Given the description of an element on the screen output the (x, y) to click on. 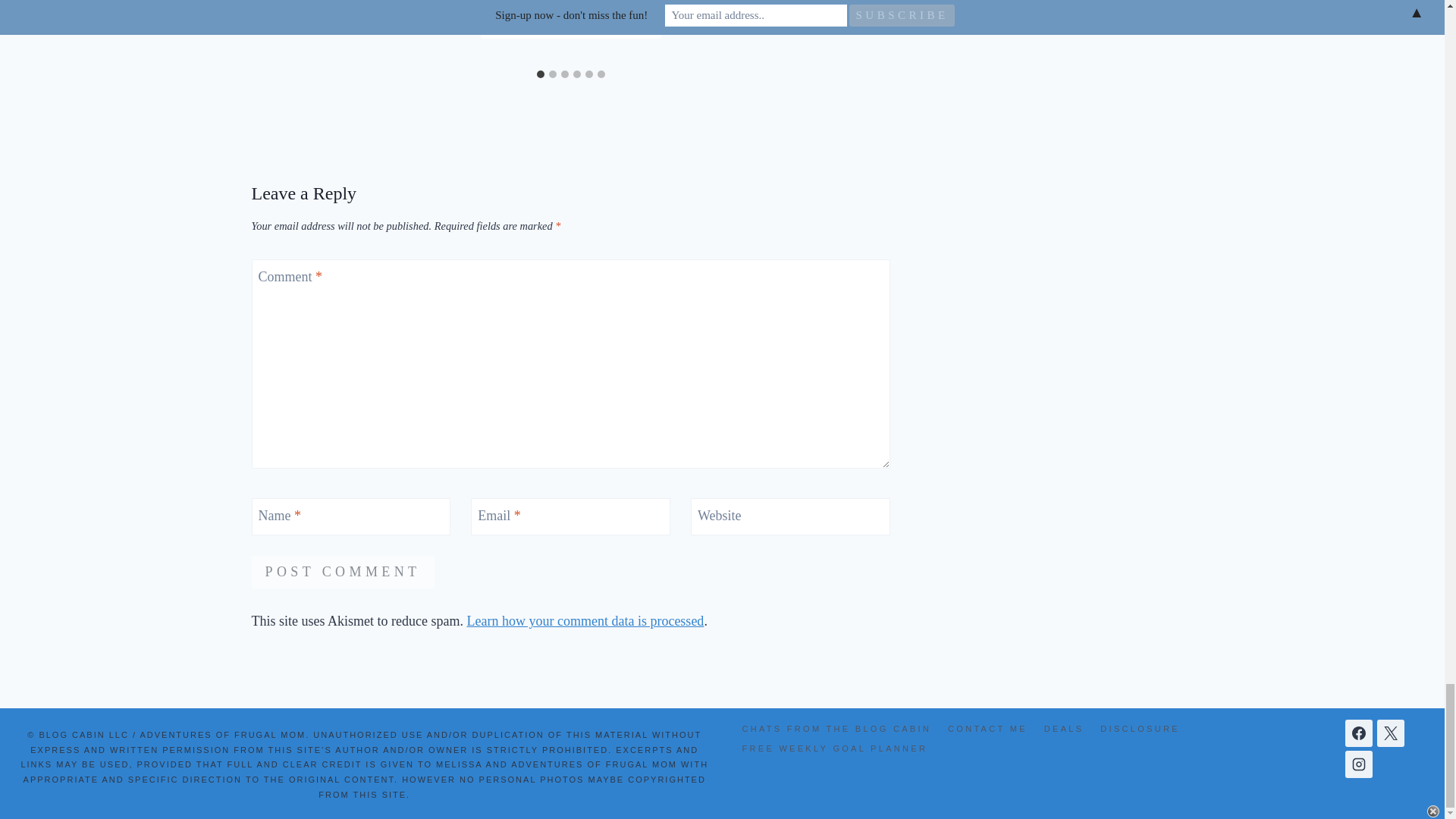
Post Comment (342, 572)
